Given the description of an element on the screen output the (x, y) to click on. 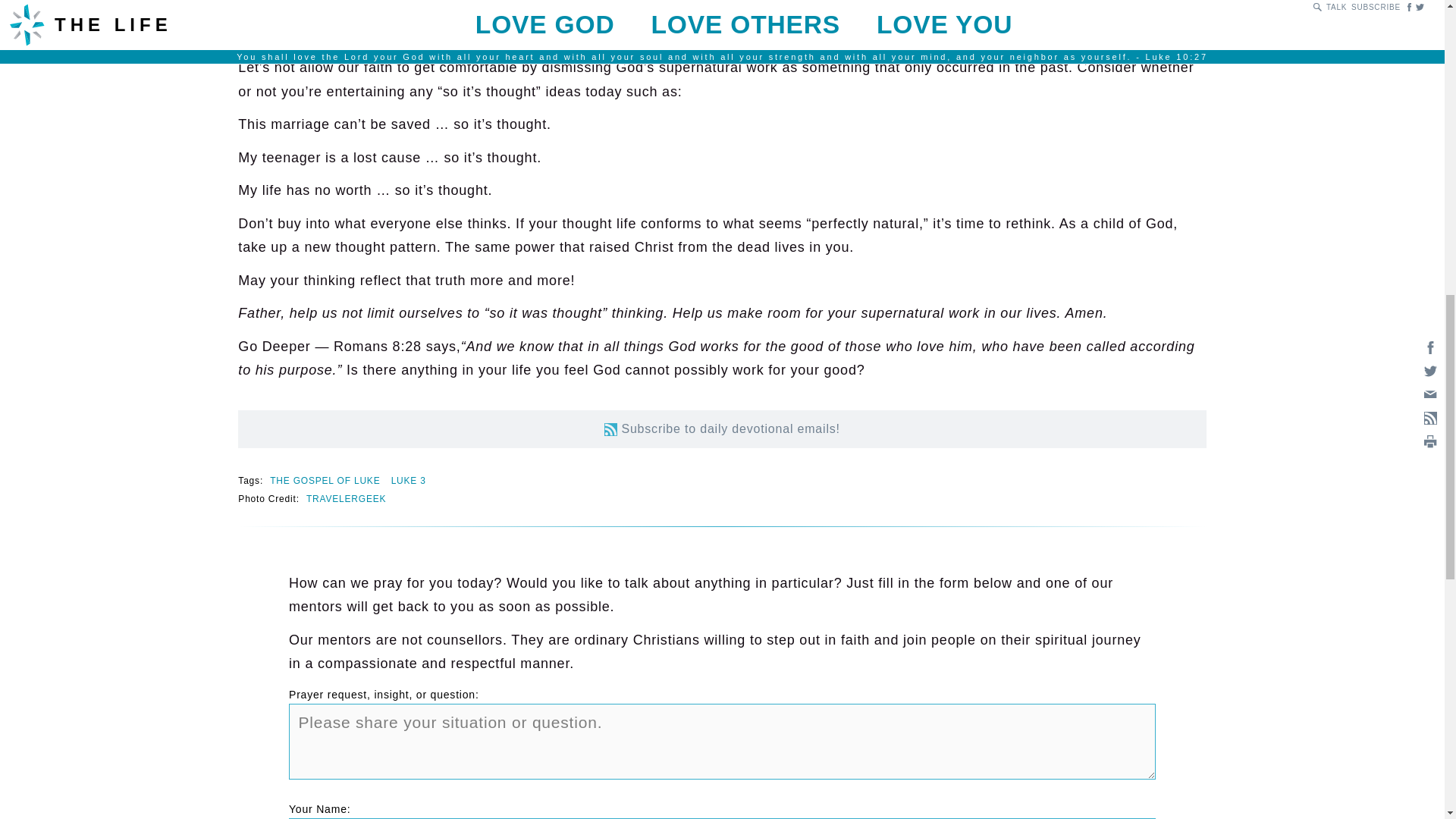
THE GOSPEL OF LUKE (324, 480)
Luke 24:6 (569, 35)
TRAVELERGEEK (345, 498)
Subscribe Subscribe to daily devotional emails! (721, 428)
Luke 5:25 (661, 4)
Subscribe (610, 429)
LUKE 3 (408, 480)
